Given the description of an element on the screen output the (x, y) to click on. 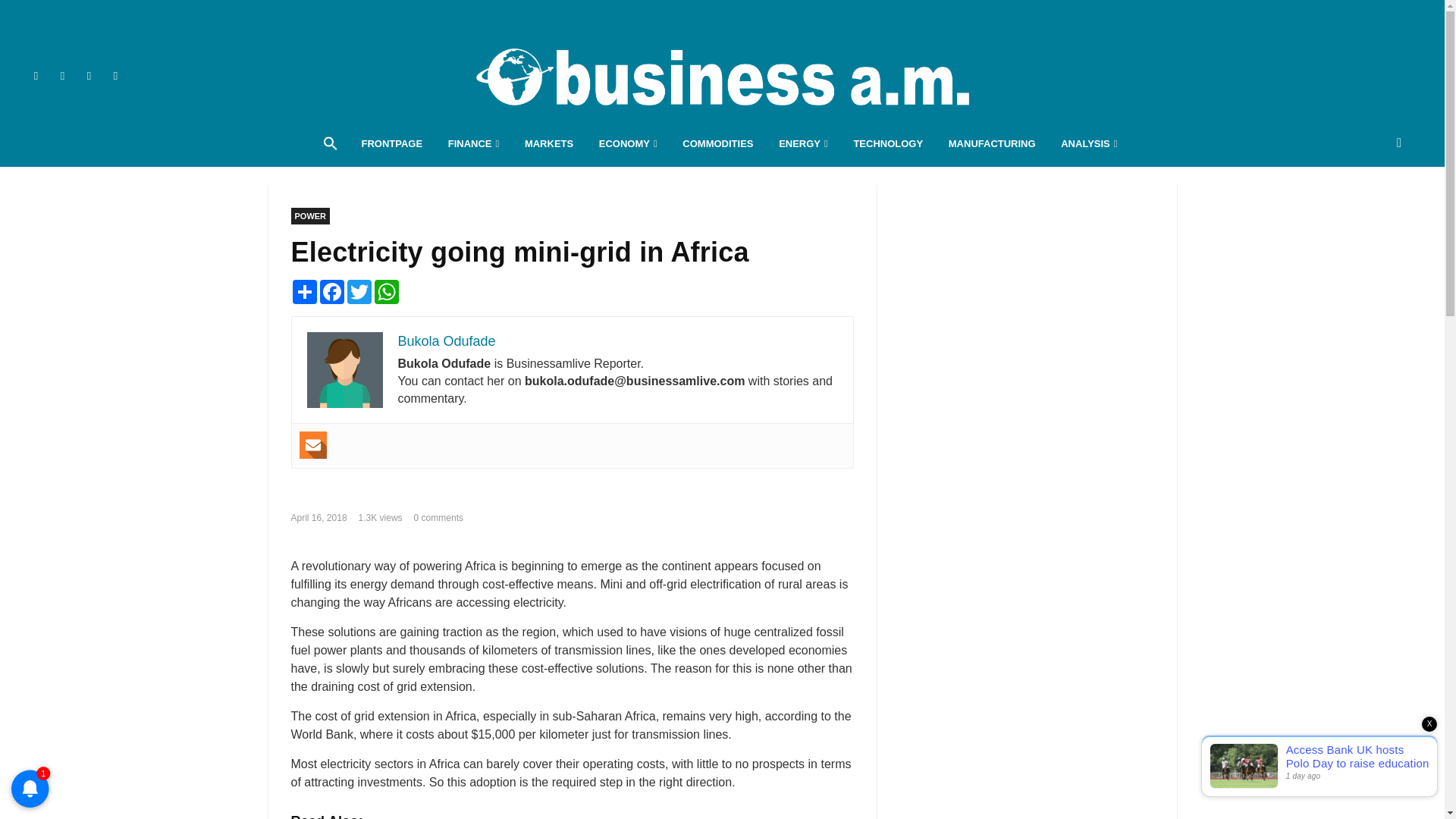
FRONTPAGE (391, 144)
Businessamlive (722, 76)
FINANCE (473, 144)
